Given the description of an element on the screen output the (x, y) to click on. 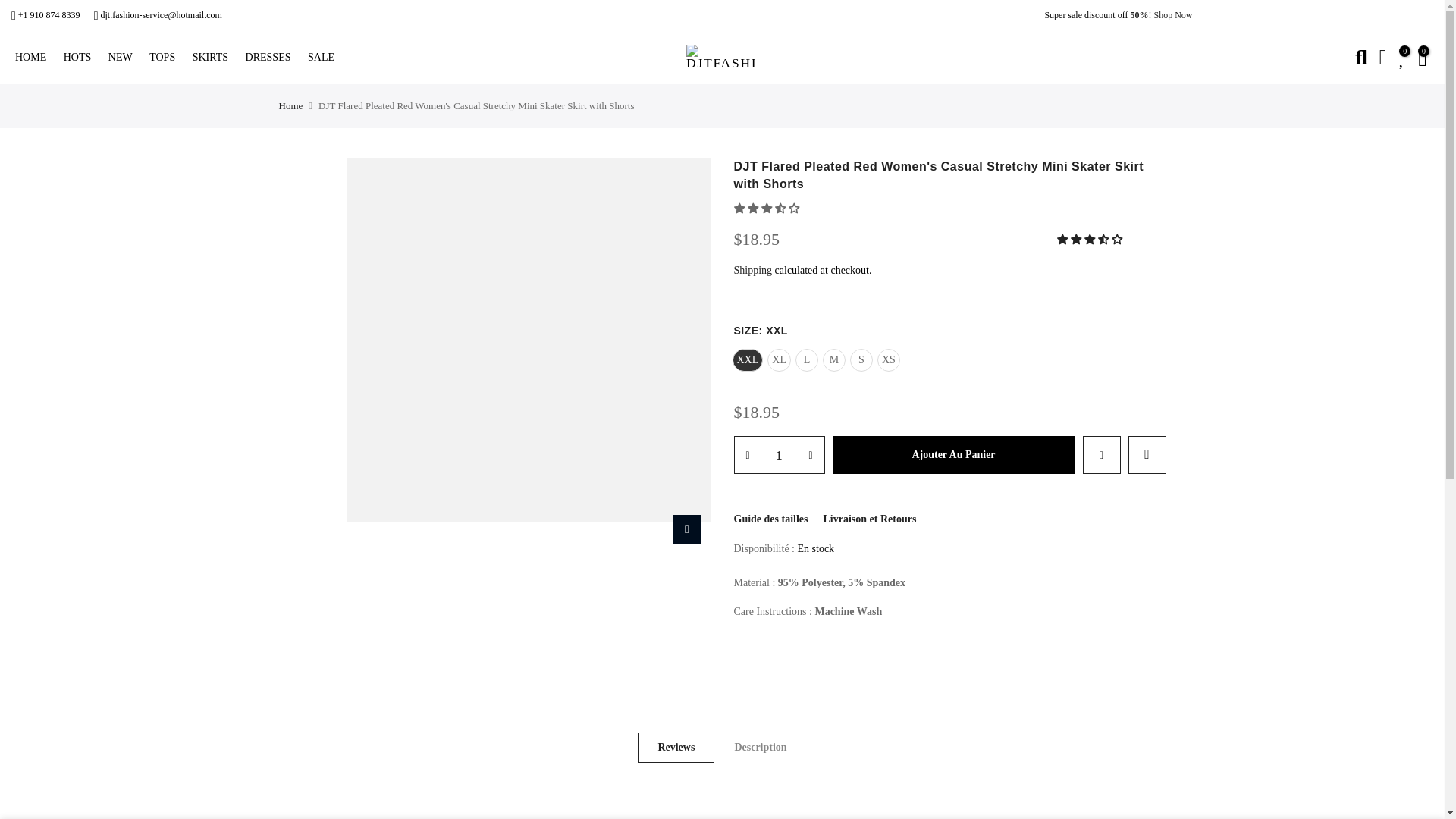
Description (760, 747)
Reviews (675, 747)
HOME (35, 57)
Ajouter Au Panier (953, 454)
Livraison et Retours (870, 518)
Home (290, 106)
Shop Now (1172, 14)
DRESSES (272, 57)
Guide des tailles (770, 518)
SKIRTS (215, 57)
